Given the description of an element on the screen output the (x, y) to click on. 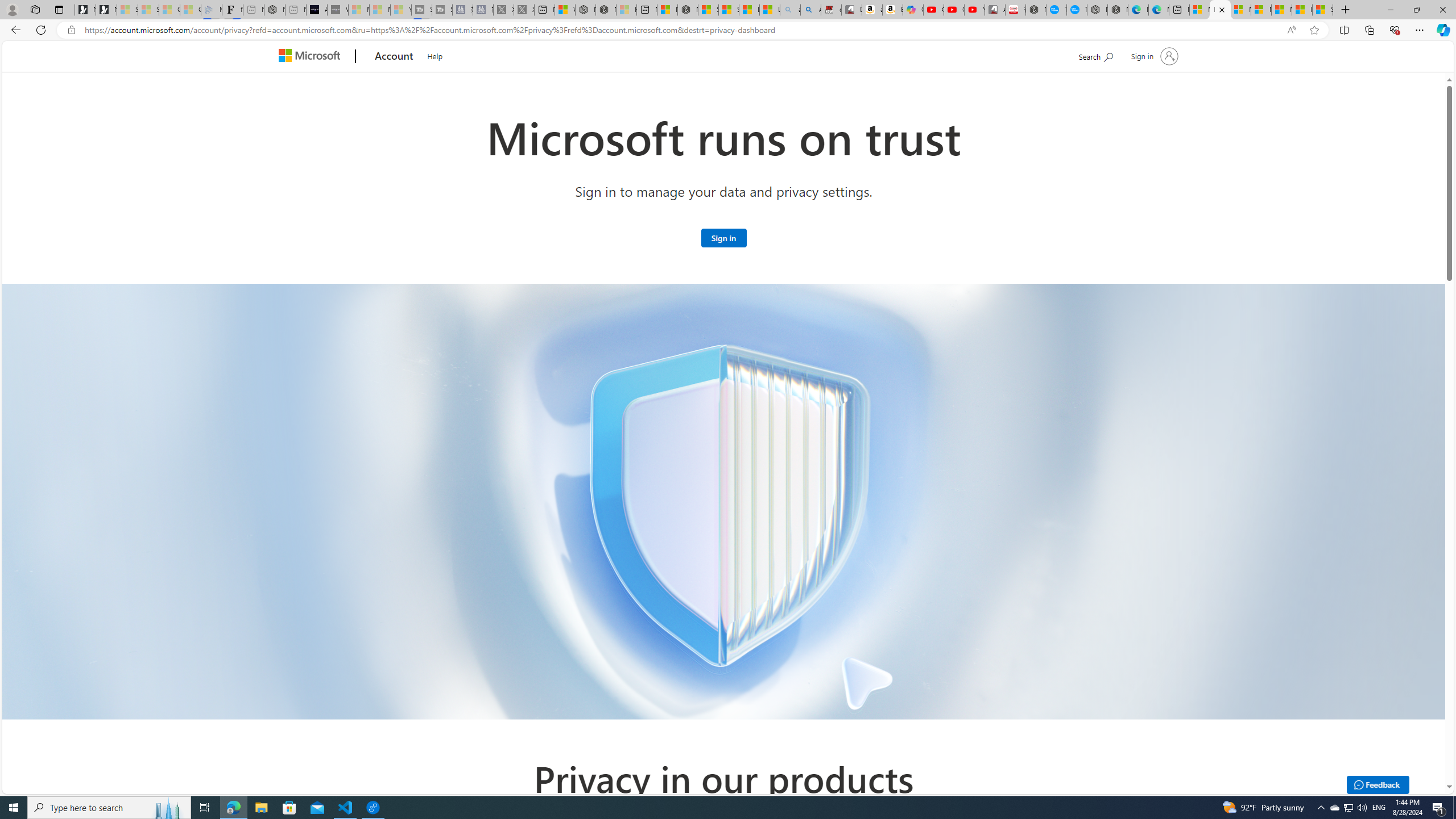
The most popular Google 'how to' searches (1076, 9)
I Gained 20 Pounds of Muscle in 30 Days! | Watch (1302, 9)
Nordace - Summer Adventures 2024 (606, 9)
amazon - Search - Sleeping (789, 9)
New tab - Sleeping (296, 9)
YouTube Kids - An App Created for Kids to Explore Content (974, 9)
Microsoft Start Sports - Sleeping (358, 9)
